Given the description of an element on the screen output the (x, y) to click on. 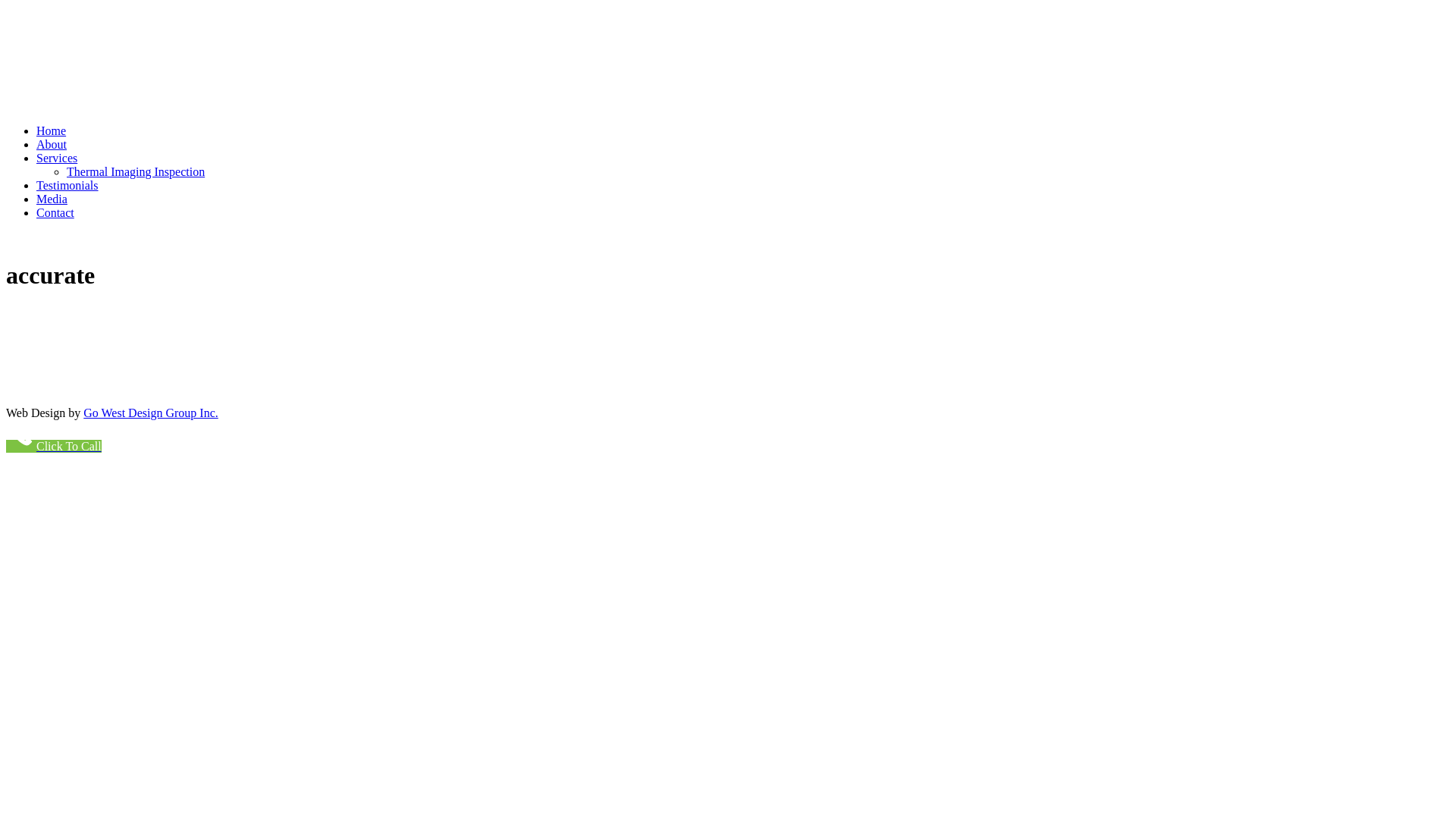
About Element type: text (51, 144)
Thermal Imaging Inspection Element type: text (135, 171)
Contact Element type: text (55, 212)
Home Element type: text (50, 130)
Services Element type: text (56, 157)
Click To Call Element type: text (53, 445)
Media Element type: text (51, 198)
Testimonials Element type: text (67, 184)
Go West Design Group Inc. Element type: text (150, 412)
